Given the description of an element on the screen output the (x, y) to click on. 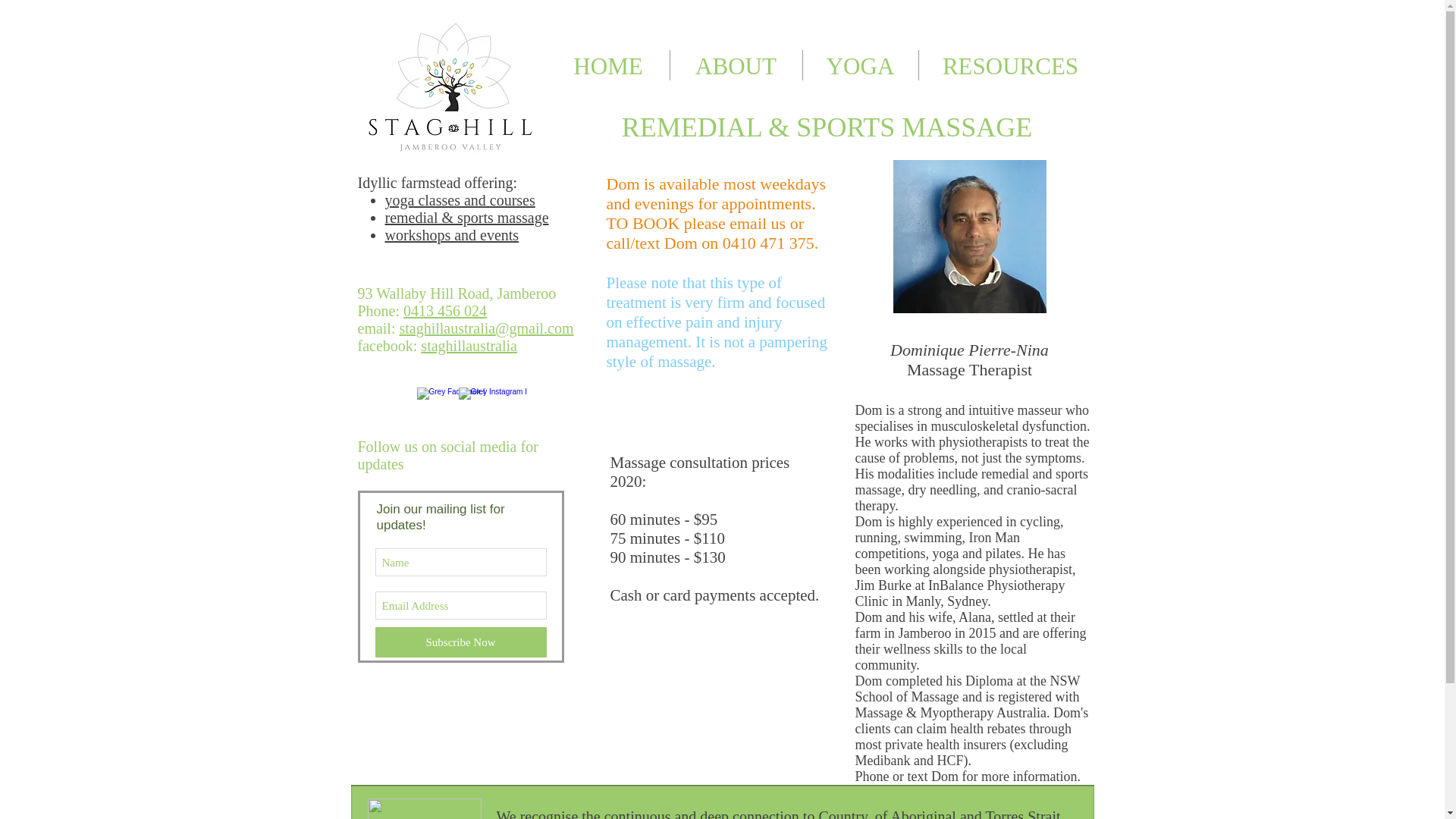
0413 456 024 (444, 310)
YOGA (859, 64)
staghillaustralia (468, 345)
Subscribe Now (460, 642)
ABOUT (735, 64)
workshops and events (452, 234)
HOME (608, 64)
yoga classes and courses (460, 199)
RESOURCES (1010, 64)
